Given the description of an element on the screen output the (x, y) to click on. 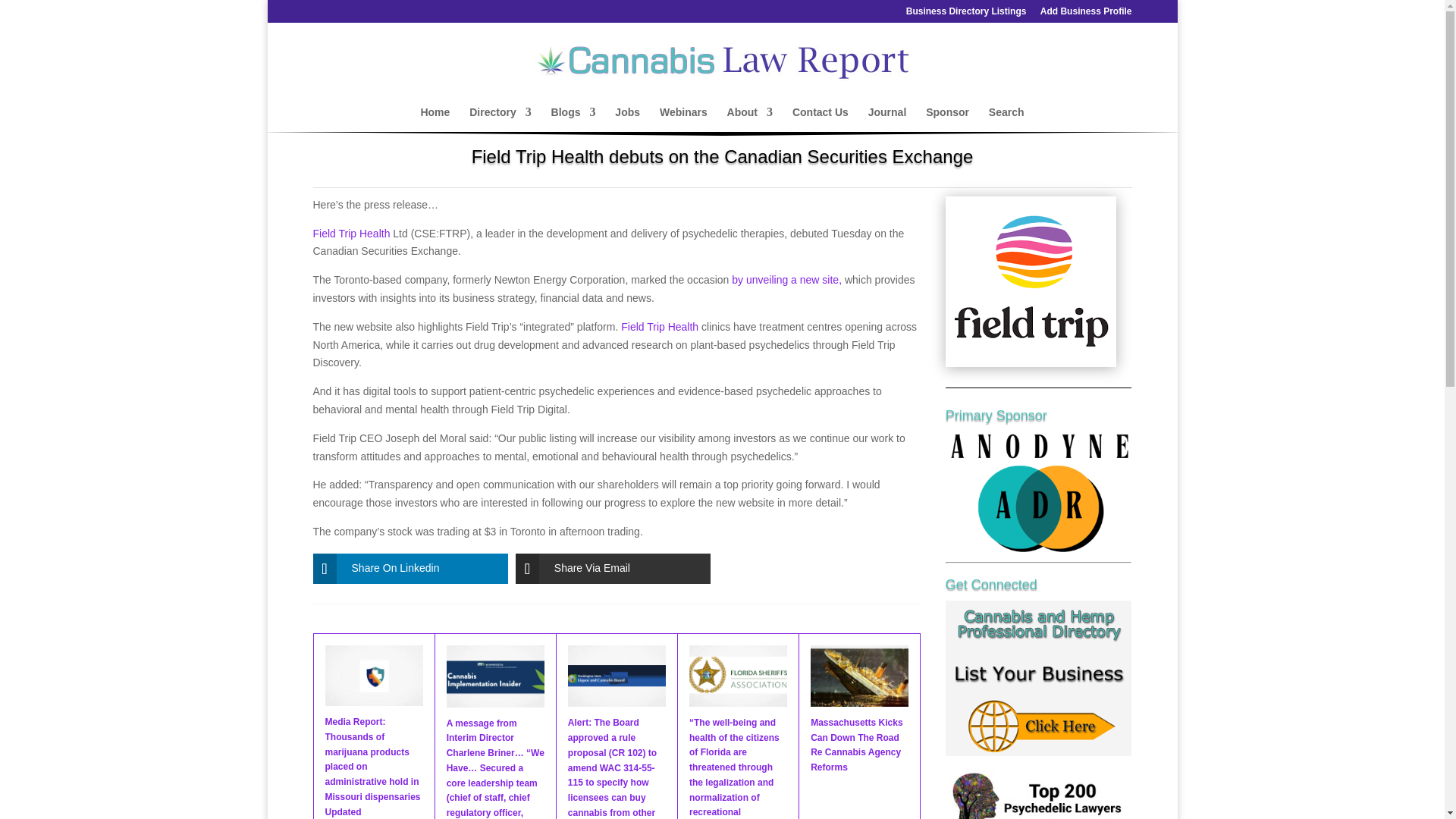
Add Business Profile (1086, 14)
Blogs (573, 119)
download (1030, 281)
Directory (499, 119)
Home (434, 119)
Business Directory Listings (965, 14)
